Given the description of an element on the screen output the (x, y) to click on. 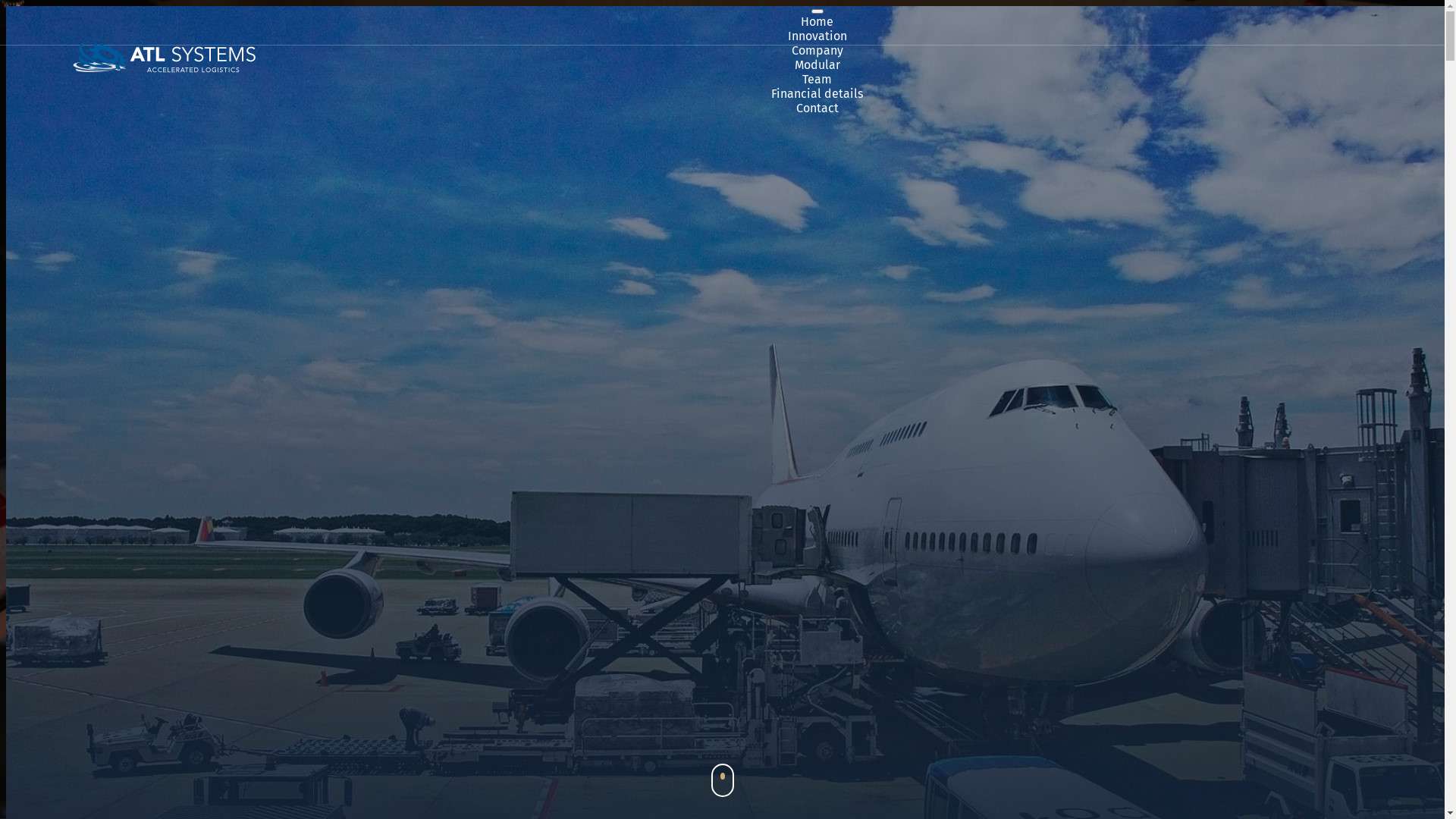
Company Element type: text (817, 50)
Innovation Element type: text (816, 35)
Financial details Element type: text (816, 93)
Modular Element type: text (817, 64)
Home Element type: text (816, 21)
Team Element type: text (816, 79)
Contact Element type: text (817, 107)
